Given the description of an element on the screen output the (x, y) to click on. 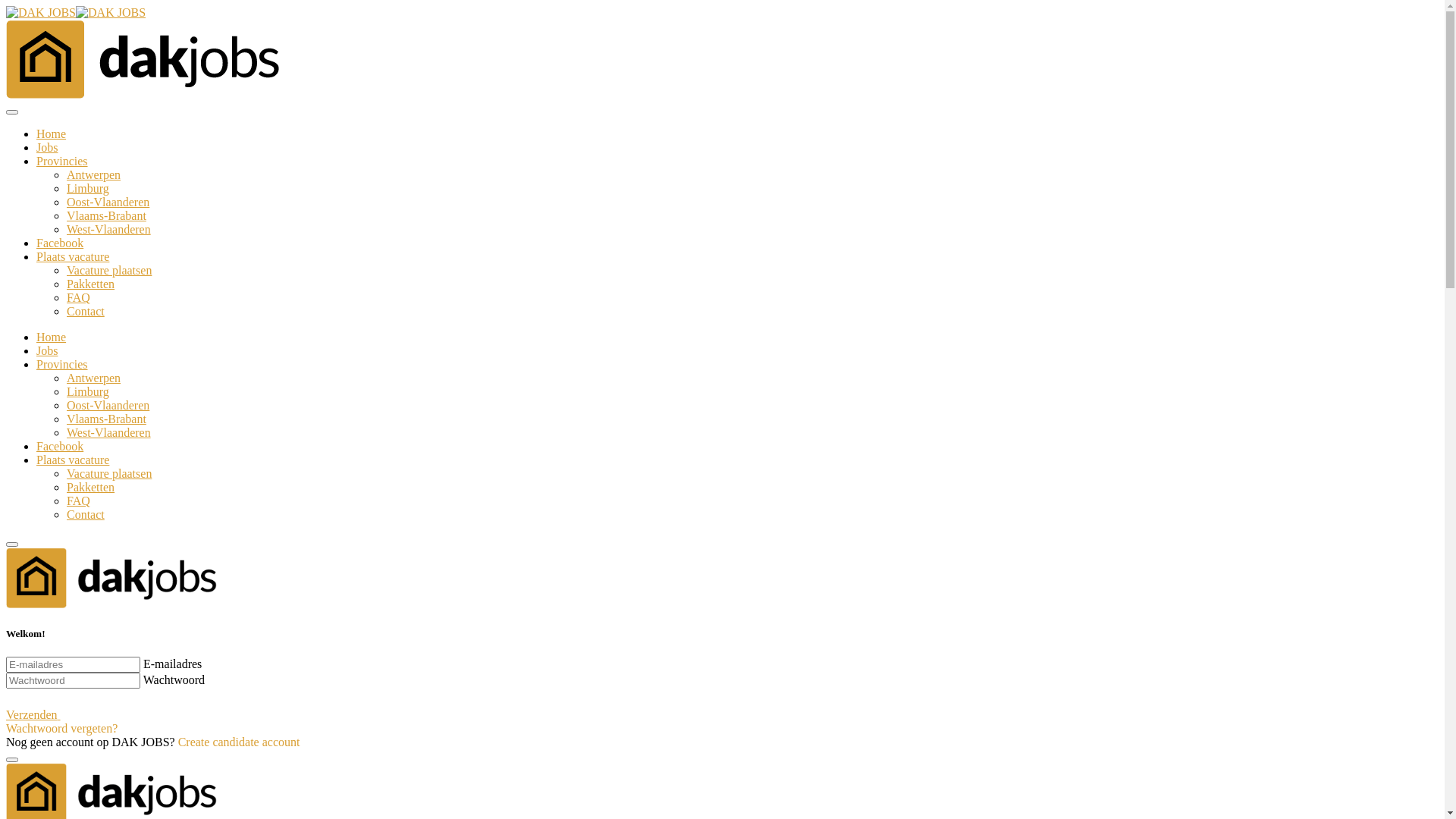
Jobs Element type: text (46, 147)
Facebook Element type: text (59, 242)
Limburg Element type: text (87, 391)
West-Vlaanderen Element type: text (108, 228)
Contact Element type: text (85, 310)
Wachtwoord vergeten? Element type: text (61, 727)
Plaats vacature Element type: text (72, 459)
Limburg Element type: text (87, 188)
Vlaams-Brabant Element type: text (106, 215)
Oost-Vlaanderen Element type: text (107, 201)
Contact Element type: text (85, 514)
Provincies Element type: text (61, 160)
Provincies Element type: text (61, 363)
Antwerpen Element type: text (93, 377)
Vlaams-Brabant Element type: text (106, 418)
Jobs Element type: text (46, 350)
Pakketten Element type: text (90, 486)
Home Element type: text (50, 133)
Create candidate account Element type: text (239, 741)
FAQ Element type: text (78, 500)
Vacature plaatsen Element type: text (108, 473)
Verzenden Element type: text (48, 714)
Vacature plaatsen Element type: text (108, 269)
FAQ Element type: text (78, 297)
West-Vlaanderen Element type: text (108, 432)
Facebook Element type: text (59, 445)
Plaats vacature Element type: text (72, 256)
Oost-Vlaanderen Element type: text (107, 404)
Pakketten Element type: text (90, 283)
Antwerpen Element type: text (93, 174)
Home Element type: text (50, 336)
